Given the description of an element on the screen output the (x, y) to click on. 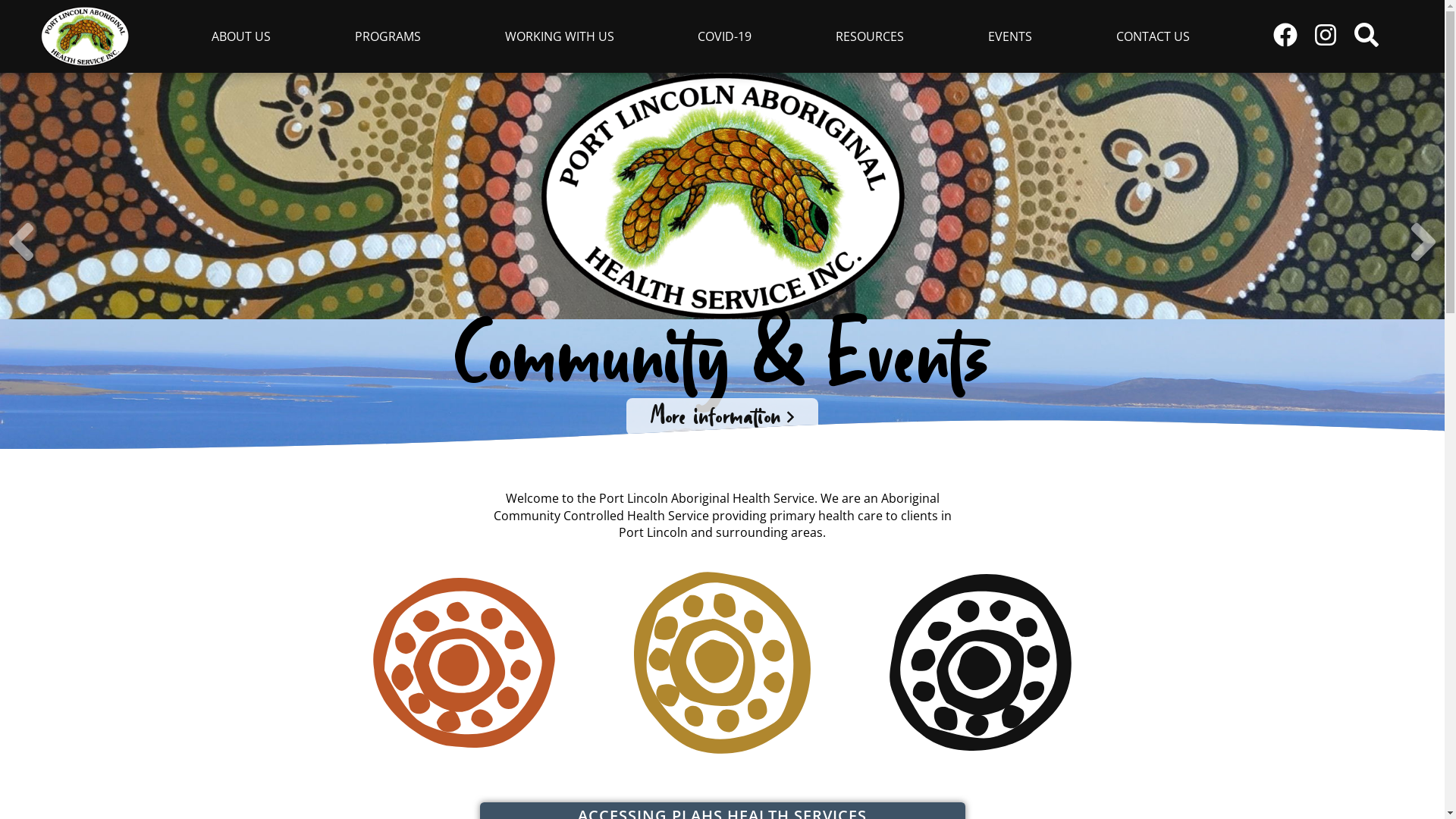
ABOUT US Element type: text (241, 35)
More information Element type: text (722, 417)
Values Element type: text (980, 662)
CONTACT US Element type: text (1152, 35)
COVID-19 Element type: text (724, 35)
RESOURCES Element type: text (870, 35)
PLAHS Home Element type: hover (84, 36)
Vision Element type: text (462, 662)
Information and resources Element type: text (721, 557)
PROGRAMS Element type: text (387, 35)
WORKING WITH US Element type: text (558, 35)
EVENTS Element type: text (1009, 35)
Mission Element type: text (721, 662)
